Given the description of an element on the screen output the (x, y) to click on. 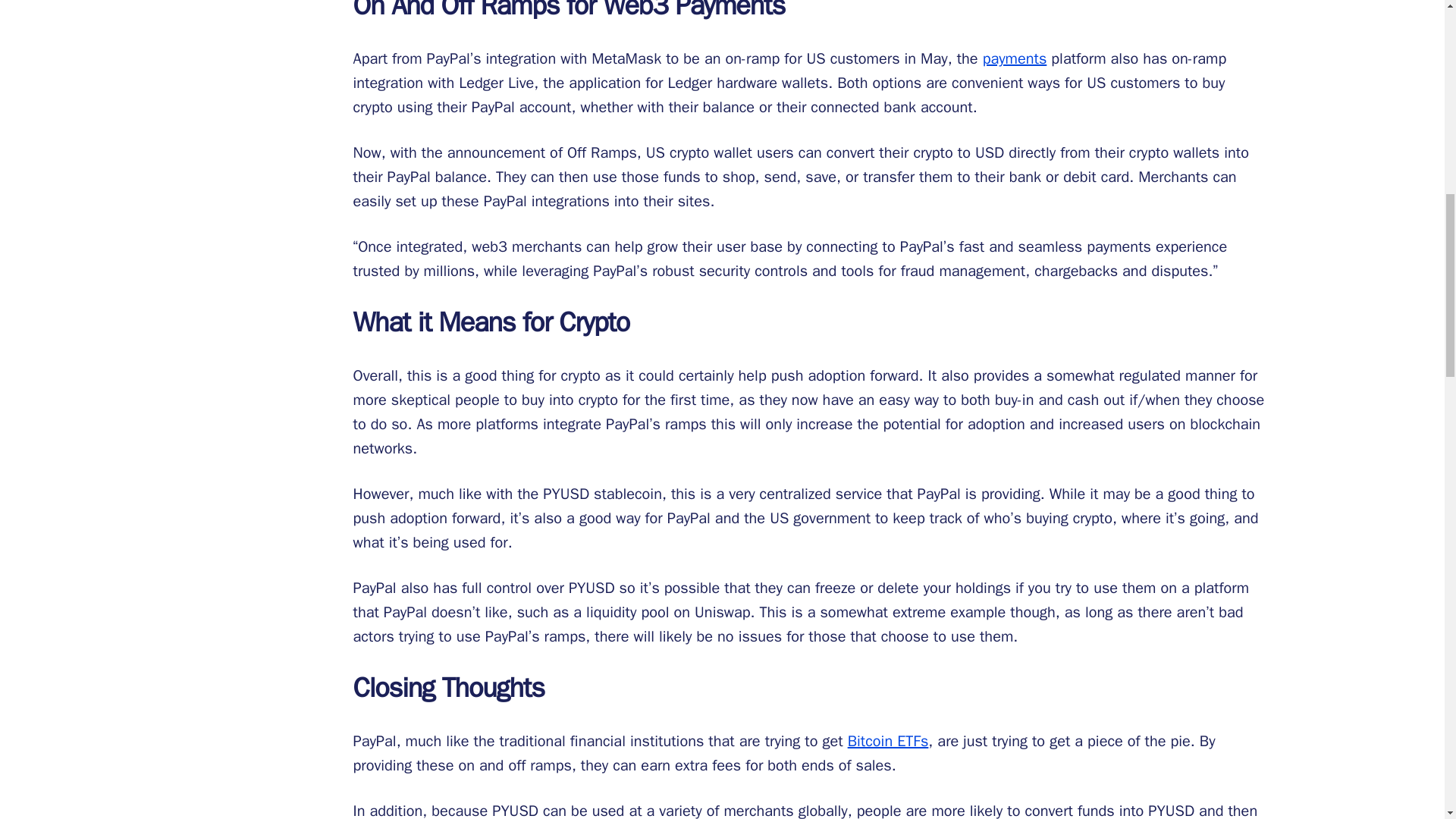
payments (1014, 58)
Bitcoin ETFs (887, 741)
